Given the description of an element on the screen output the (x, y) to click on. 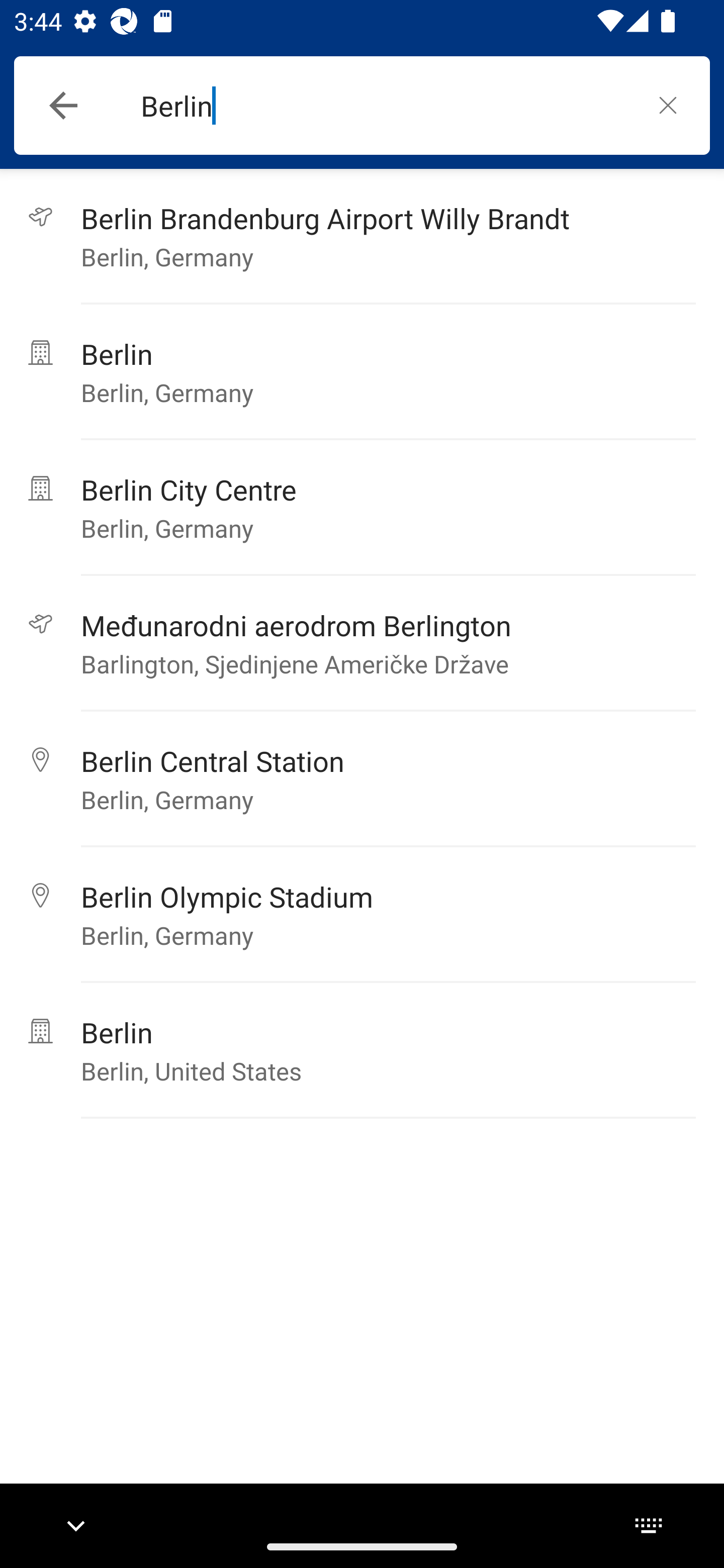
Navigate up (62, 105)
놕 (667, 104)
Berlin (382, 105)
넭 Berlin Berlin, Germany (362, 372)
넭 Berlin City Centre Berlin, Germany (362, 507)
낍 Berlin Central Station Berlin, Germany (362, 778)
낍 Berlin Olympic Stadium Berlin, Germany (362, 914)
넭 Berlin Berlin, United States (362, 1050)
